Given the description of an element on the screen output the (x, y) to click on. 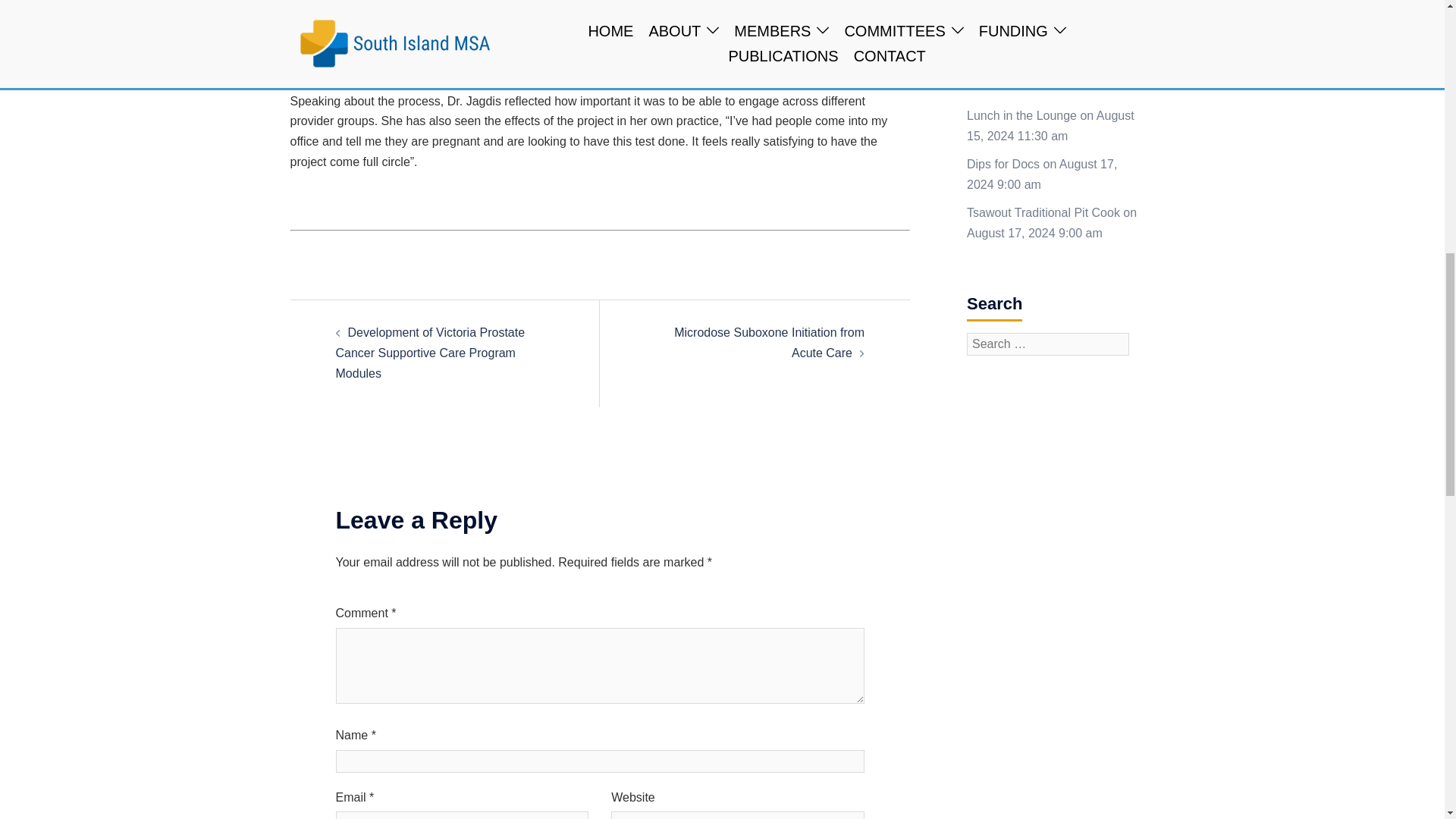
Previous month (989, 41)
